Given the description of an element on the screen output the (x, y) to click on. 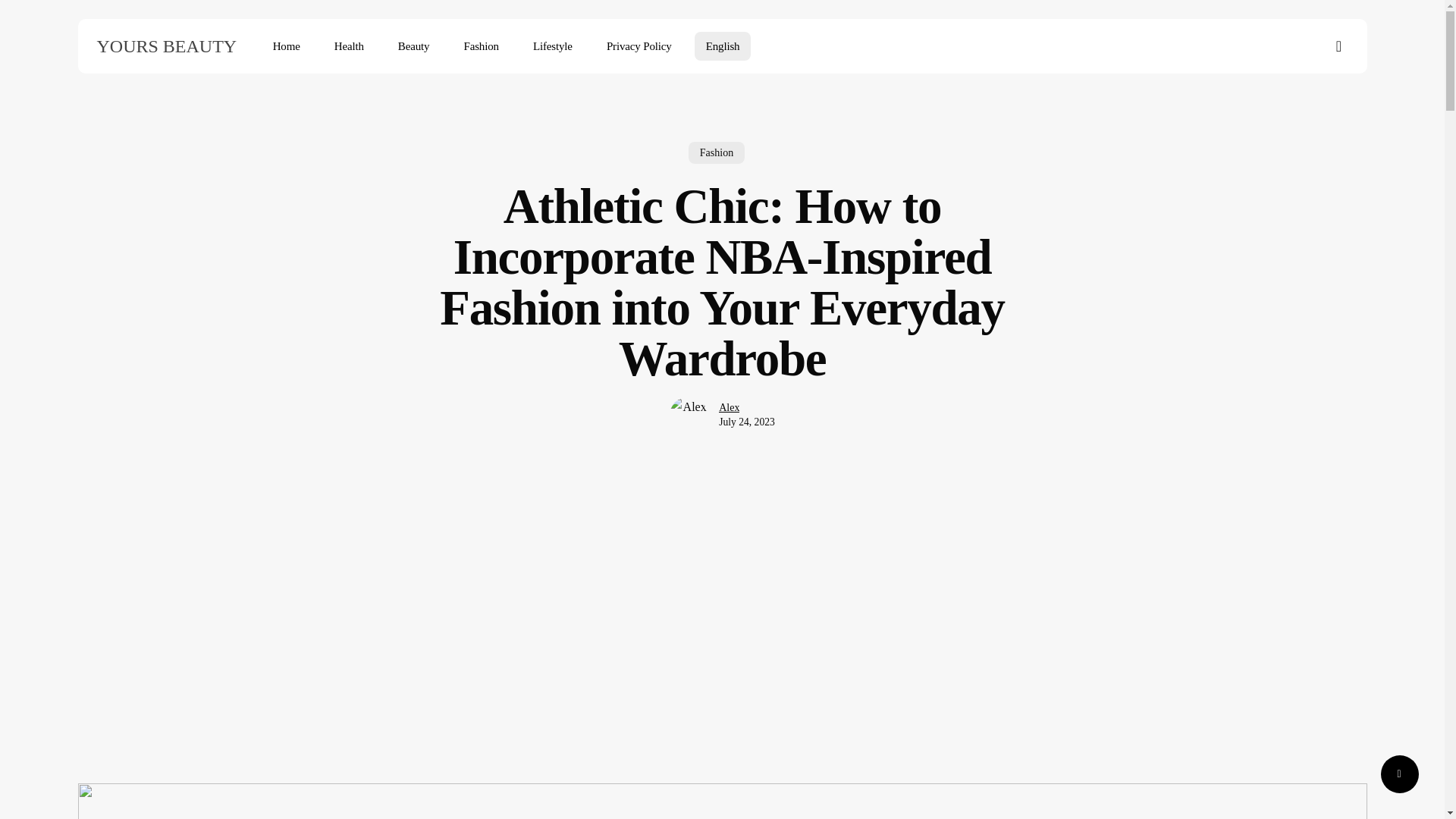
English (722, 45)
Posts by Alex (729, 407)
Alex (729, 410)
Fashion (480, 45)
English (722, 45)
YOURS BEAUTY (167, 45)
Beauty (414, 45)
Fashion (716, 153)
Health (349, 45)
search (1339, 45)
Home (286, 45)
Lifestyle (552, 45)
Privacy Policy (638, 45)
